Given the description of an element on the screen output the (x, y) to click on. 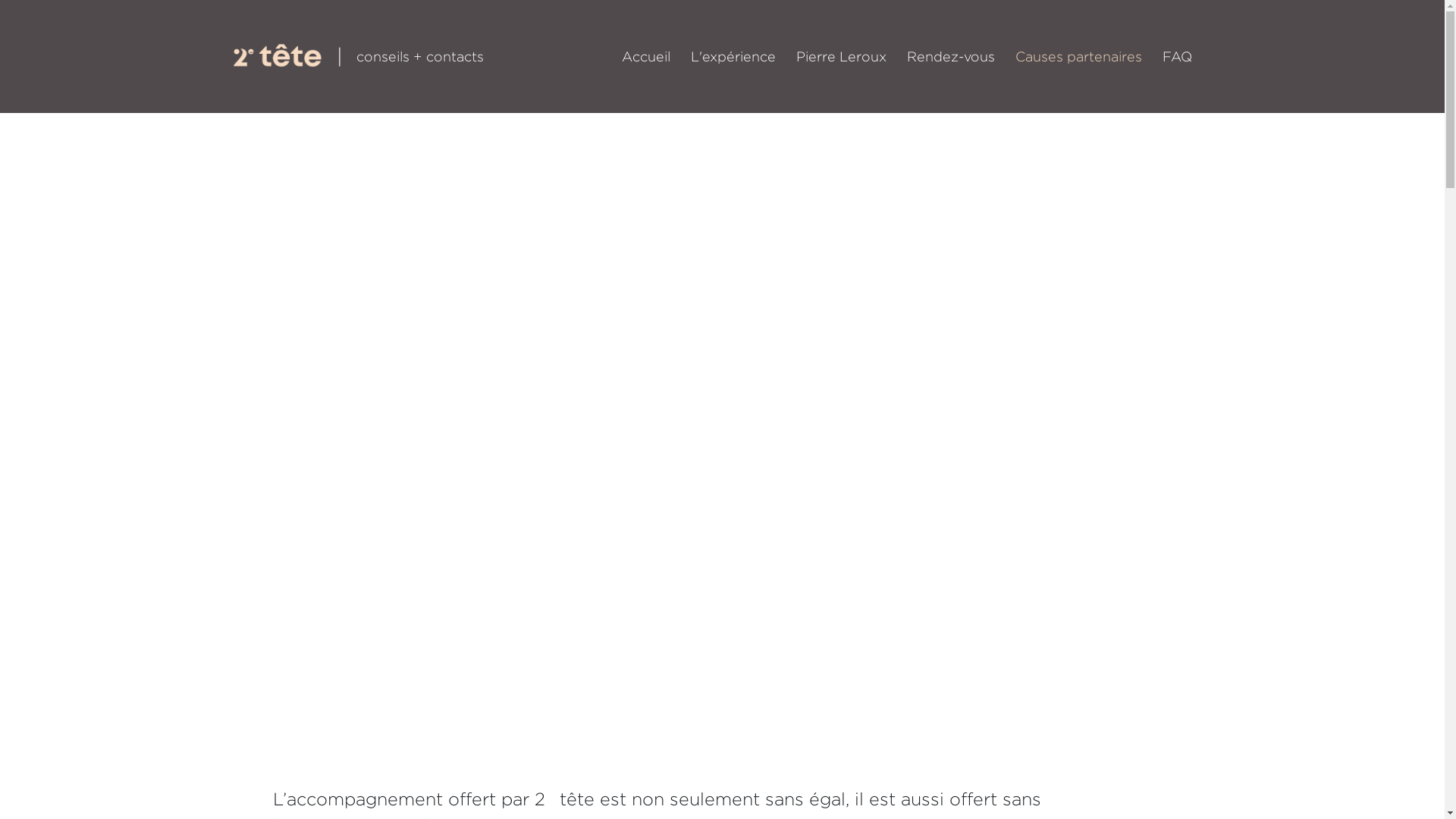
Pierre Leroux Element type: text (841, 56)
Causes partenaires Element type: text (1078, 56)
Accueil Element type: text (645, 56)
Rendez-vous Element type: text (950, 56)
FAQ Element type: text (1177, 56)
|
conseils + contacts Element type: text (357, 56)
